Given the description of an element on the screen output the (x, y) to click on. 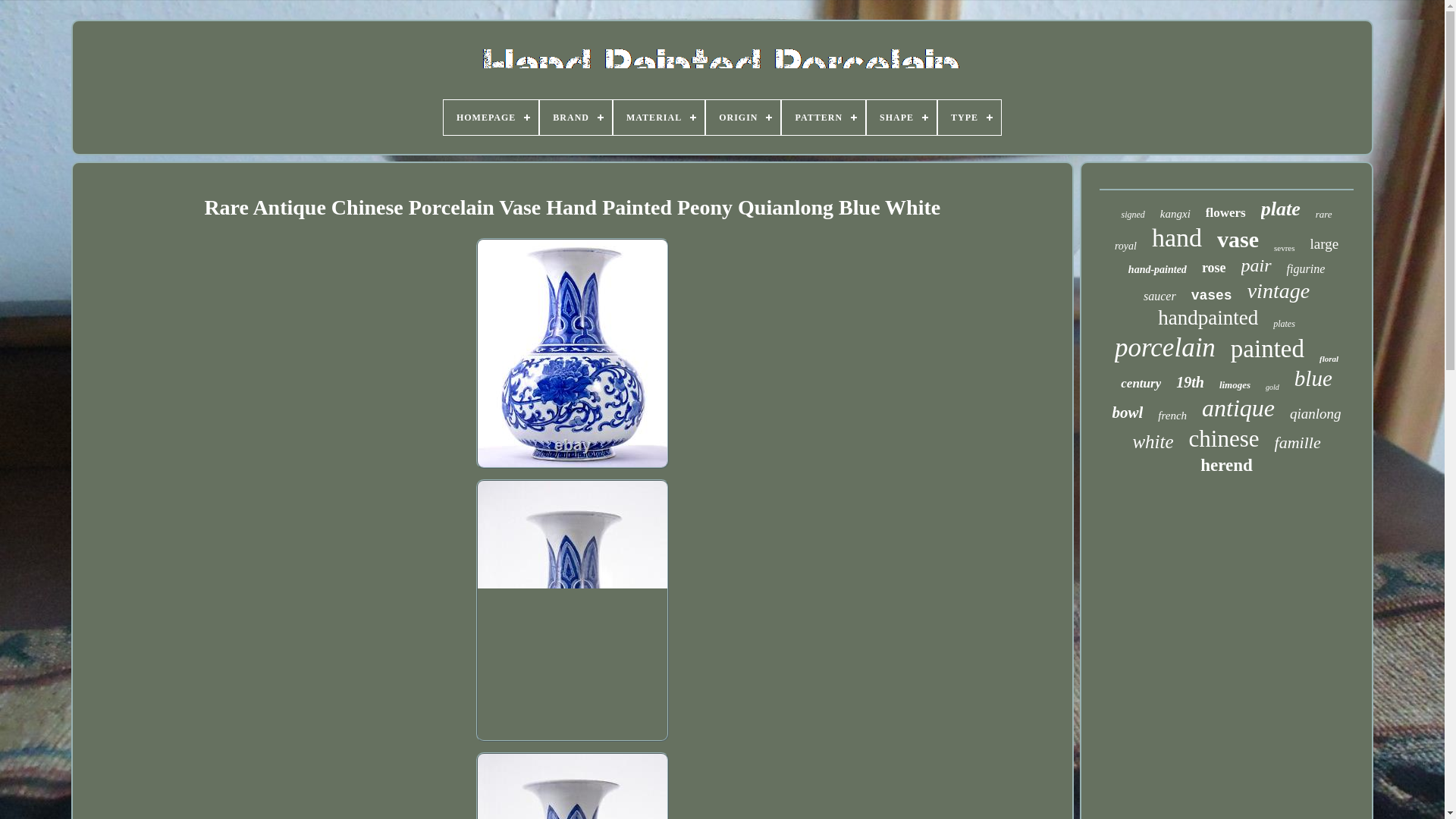
BRAND (575, 117)
HOMEPAGE (491, 117)
MATERIAL (658, 117)
